Given the description of an element on the screen output the (x, y) to click on. 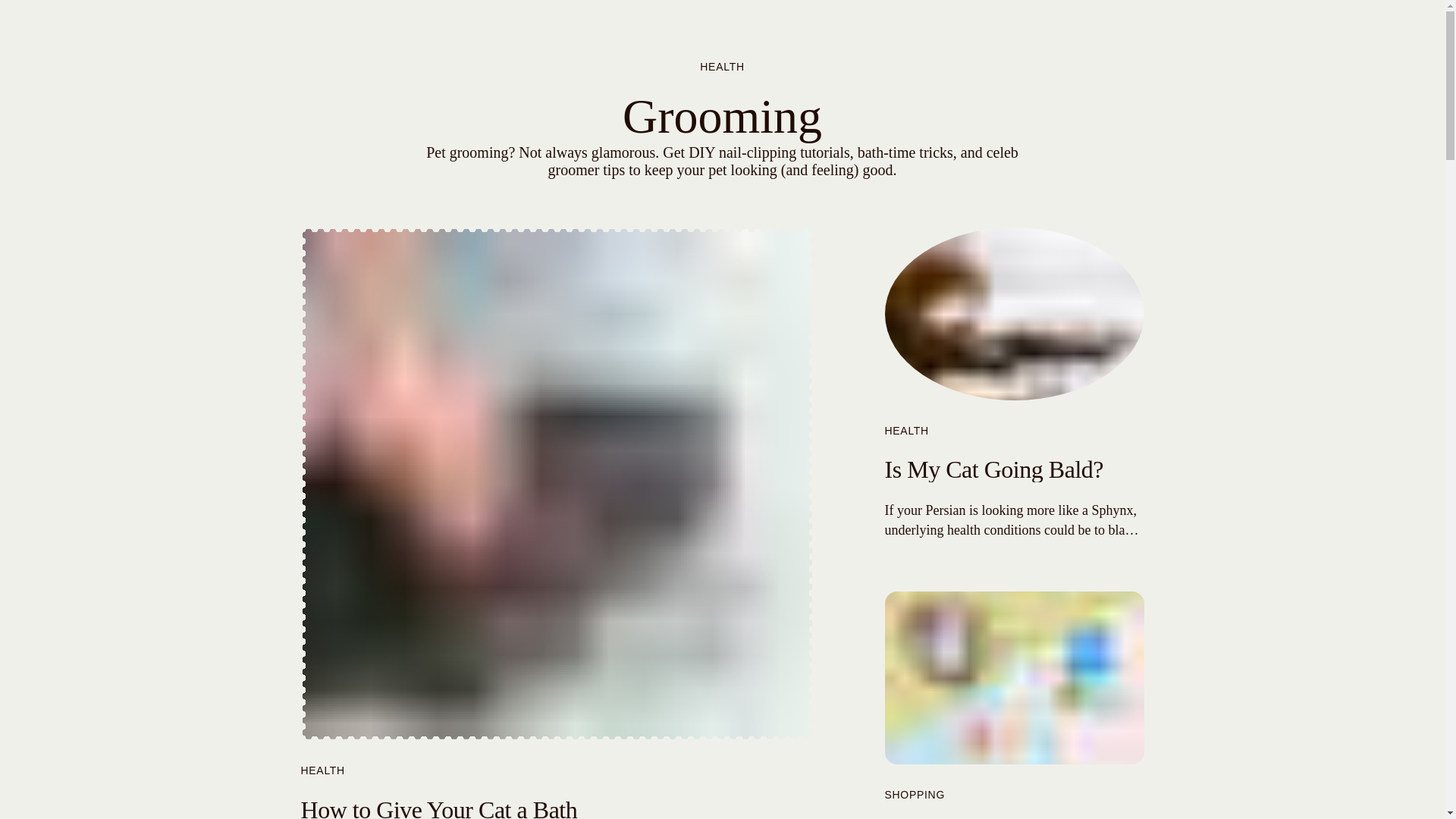
How to Give Your Cat a Bath (437, 807)
Skip to main content (5, 66)
Is My Cat Going Bald? (993, 469)
